Given the description of an element on the screen output the (x, y) to click on. 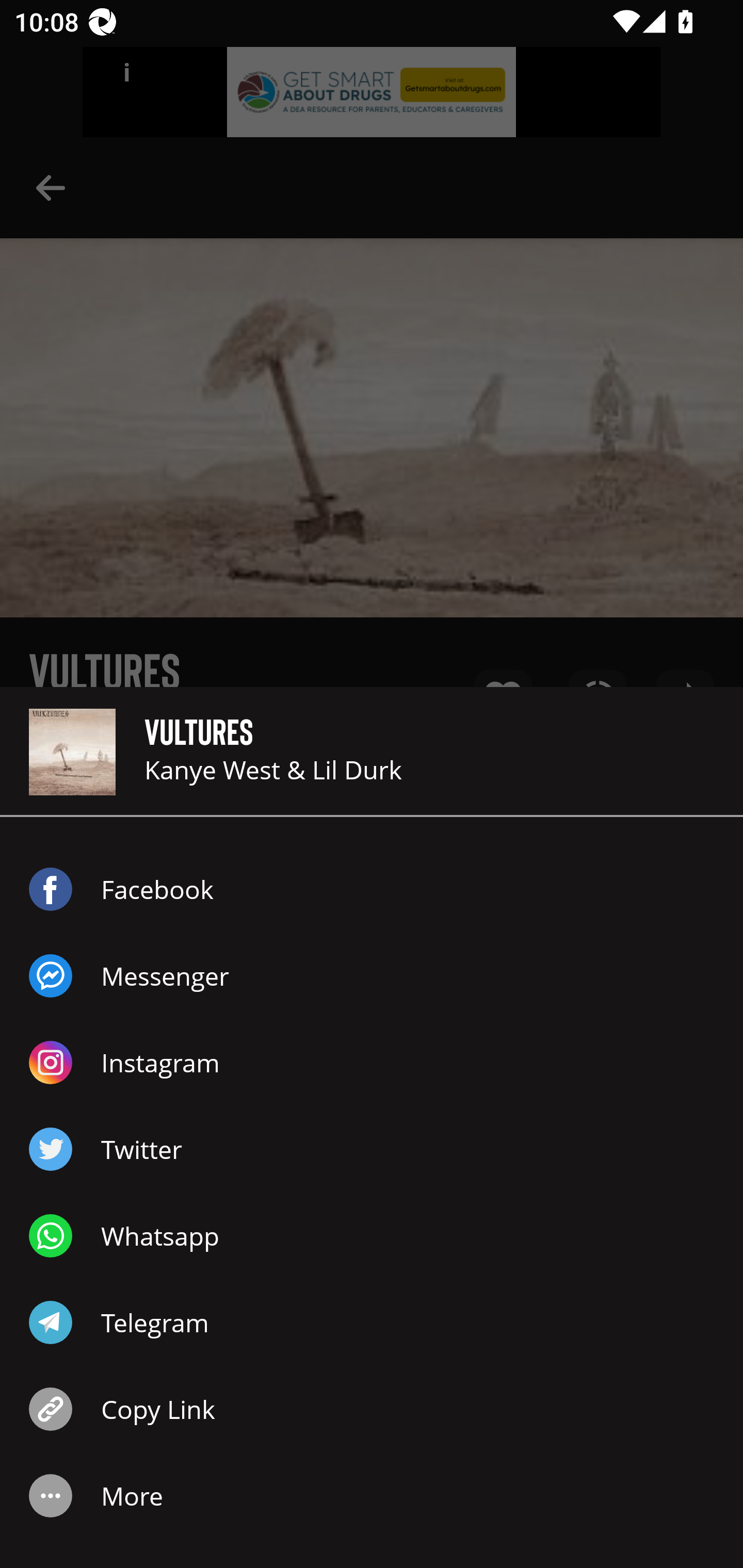
Facebook (371, 888)
Messenger (371, 975)
Instagram (371, 1062)
Twitter (371, 1149)
Whatsapp (371, 1236)
Telegram (371, 1322)
Copy Link (371, 1408)
More (371, 1495)
